Given the description of an element on the screen output the (x, y) to click on. 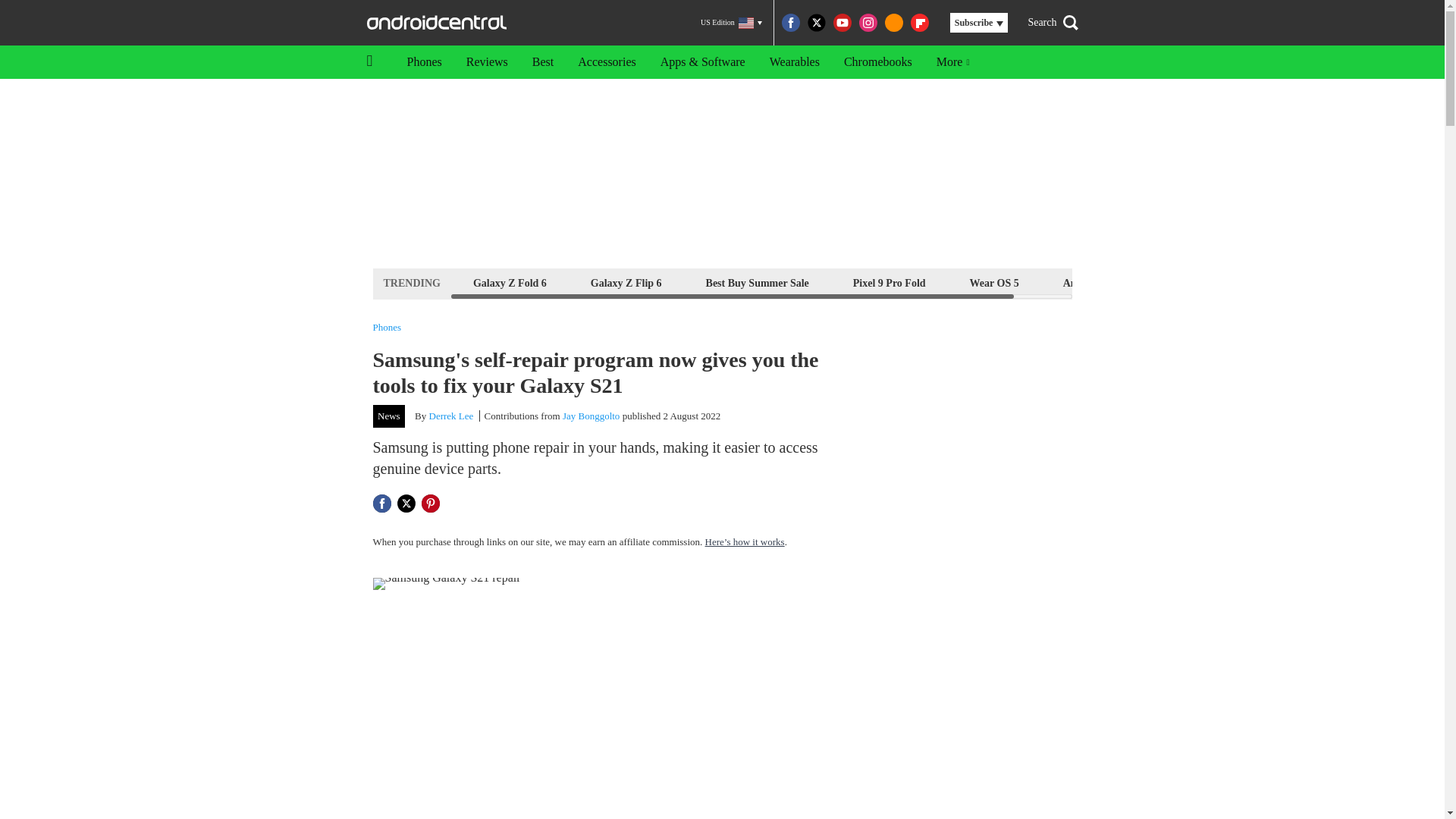
Phones (423, 61)
Galaxy Z Flip 6 (625, 282)
US Edition (731, 22)
Pixel 9 Pro Fold (889, 282)
Best Buy Summer Sale (756, 282)
News (389, 415)
Jay Bonggolto (591, 415)
Accessories (606, 61)
Galaxy Z Fold 6 (509, 282)
Android 15 (1088, 282)
Phones (386, 327)
Derrek Lee (451, 415)
Best (542, 61)
Wearables (794, 61)
Chromebooks (877, 61)
